Given the description of an element on the screen output the (x, y) to click on. 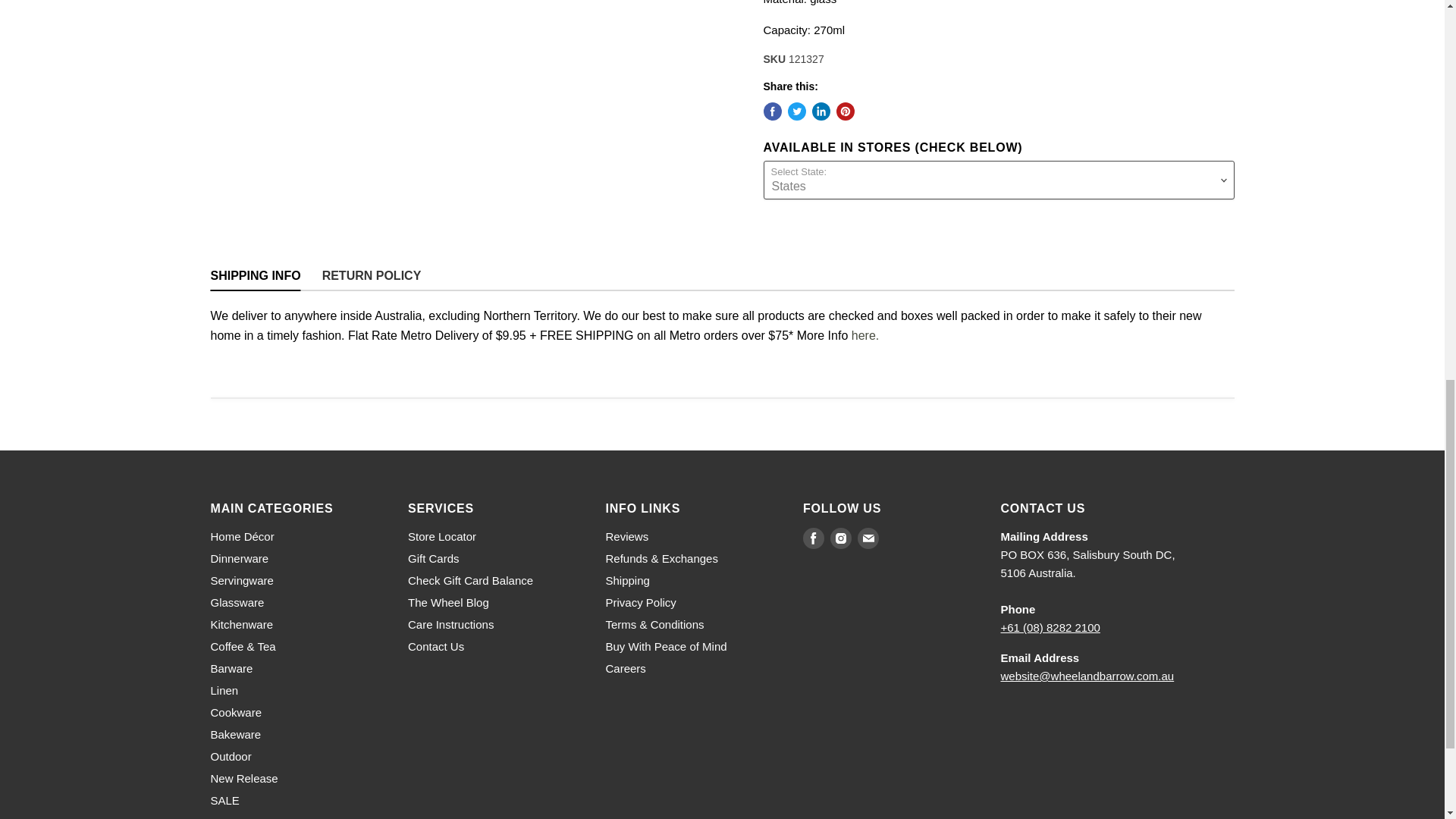
Instagram (840, 537)
Email (868, 537)
tel:0882822100 (1050, 626)
Facebook (813, 537)
